Given the description of an element on the screen output the (x, y) to click on. 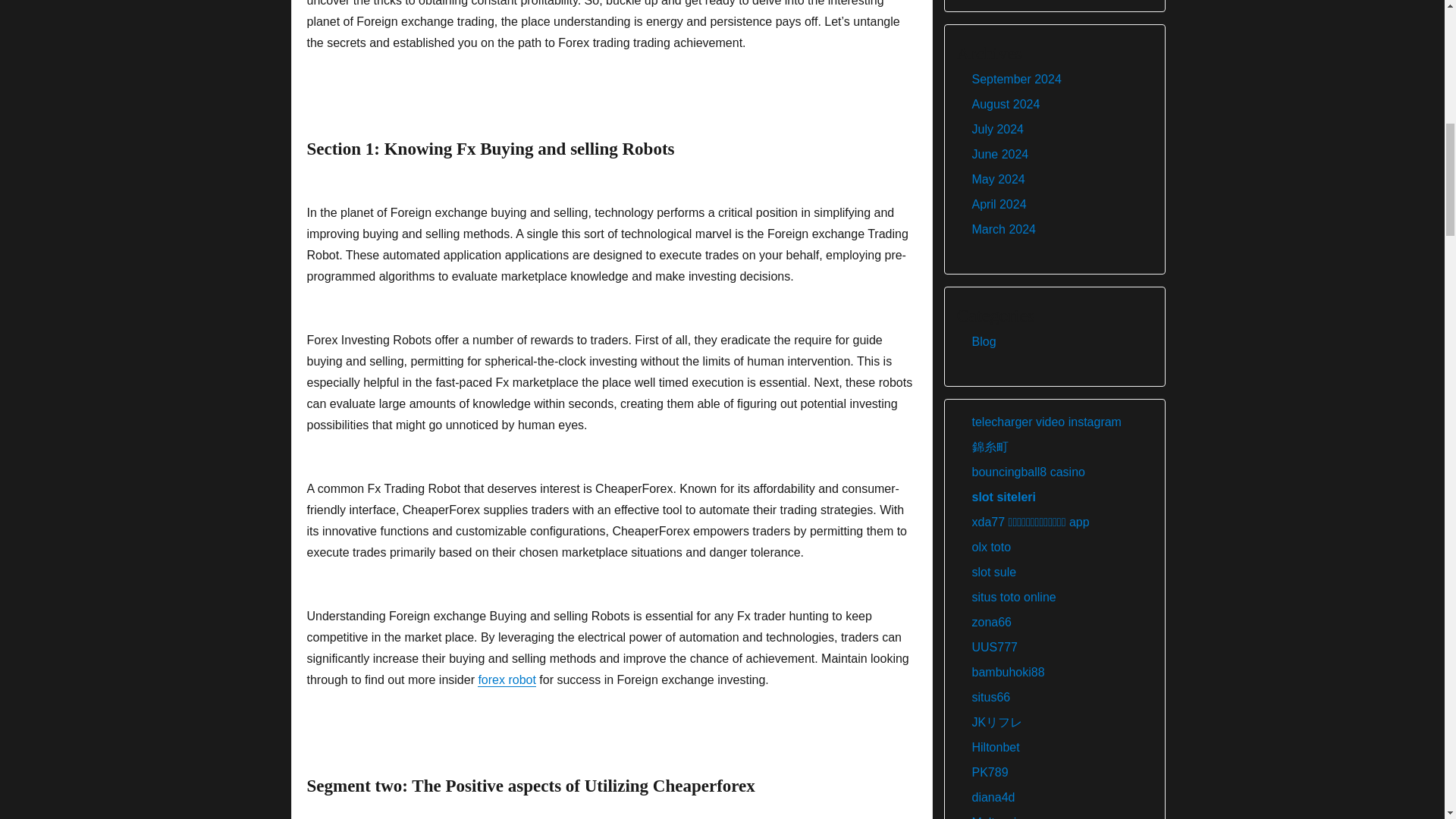
situs toto online (1014, 596)
September 2024 (1016, 78)
August 2024 (1006, 103)
March 2024 (1004, 228)
bambuhoki88 (1008, 671)
telecharger video instagram (1046, 421)
zona66 (991, 621)
bouncingball8 casino (1028, 472)
April 2024 (999, 204)
olx toto (991, 546)
